Given the description of an element on the screen output the (x, y) to click on. 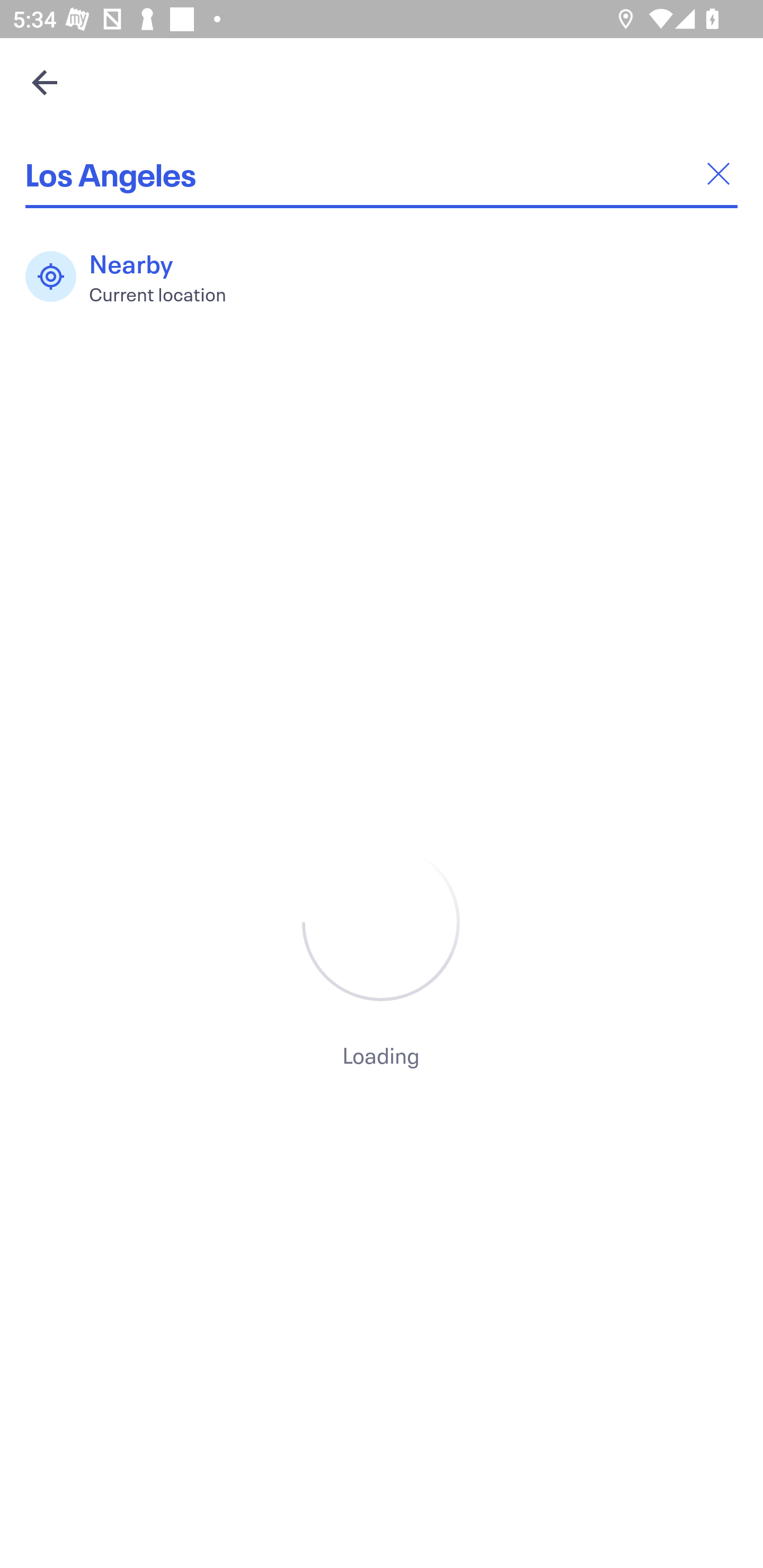
Navigate up (44, 82)
Los Angeles (381, 173)
Nearby Current location (135, 276)
